Given the description of an element on the screen output the (x, y) to click on. 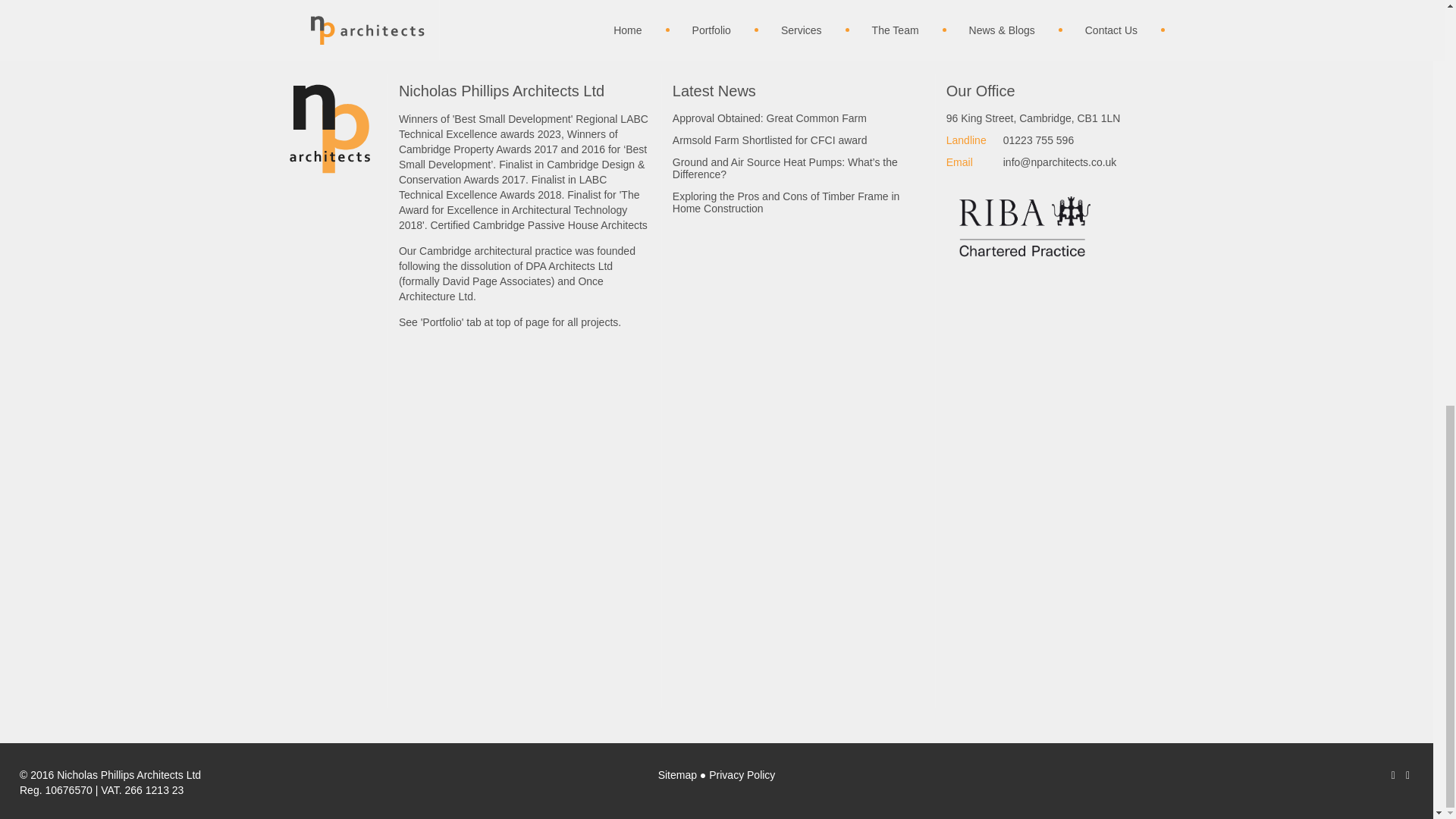
Sitemap (677, 775)
Privacy Policy (741, 775)
Approval Obtained: Great Common Farm (798, 121)
Armsold Farm Shortlisted for CFCI award (798, 142)
